Given the description of an element on the screen output the (x, y) to click on. 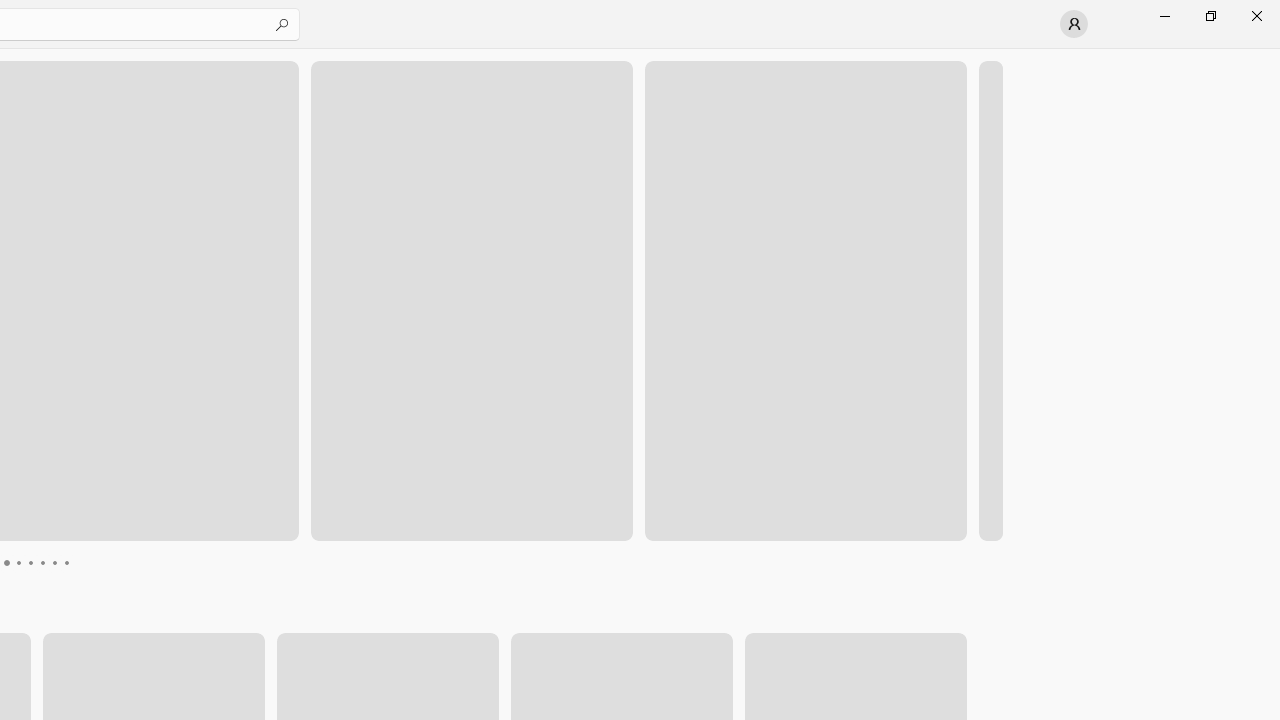
Puzzle (139, 619)
Page 4 (17, 562)
Page 8 (65, 562)
AutomationID: Image (989, 300)
AutomationID: RightScrollButton (952, 673)
Page 6 (41, 562)
Restore Microsoft Store (1210, 15)
Family & Kids (750, 619)
Page 7 (54, 562)
Page 9 (77, 562)
Deals (395, 619)
Sports (879, 619)
